Given the description of an element on the screen output the (x, y) to click on. 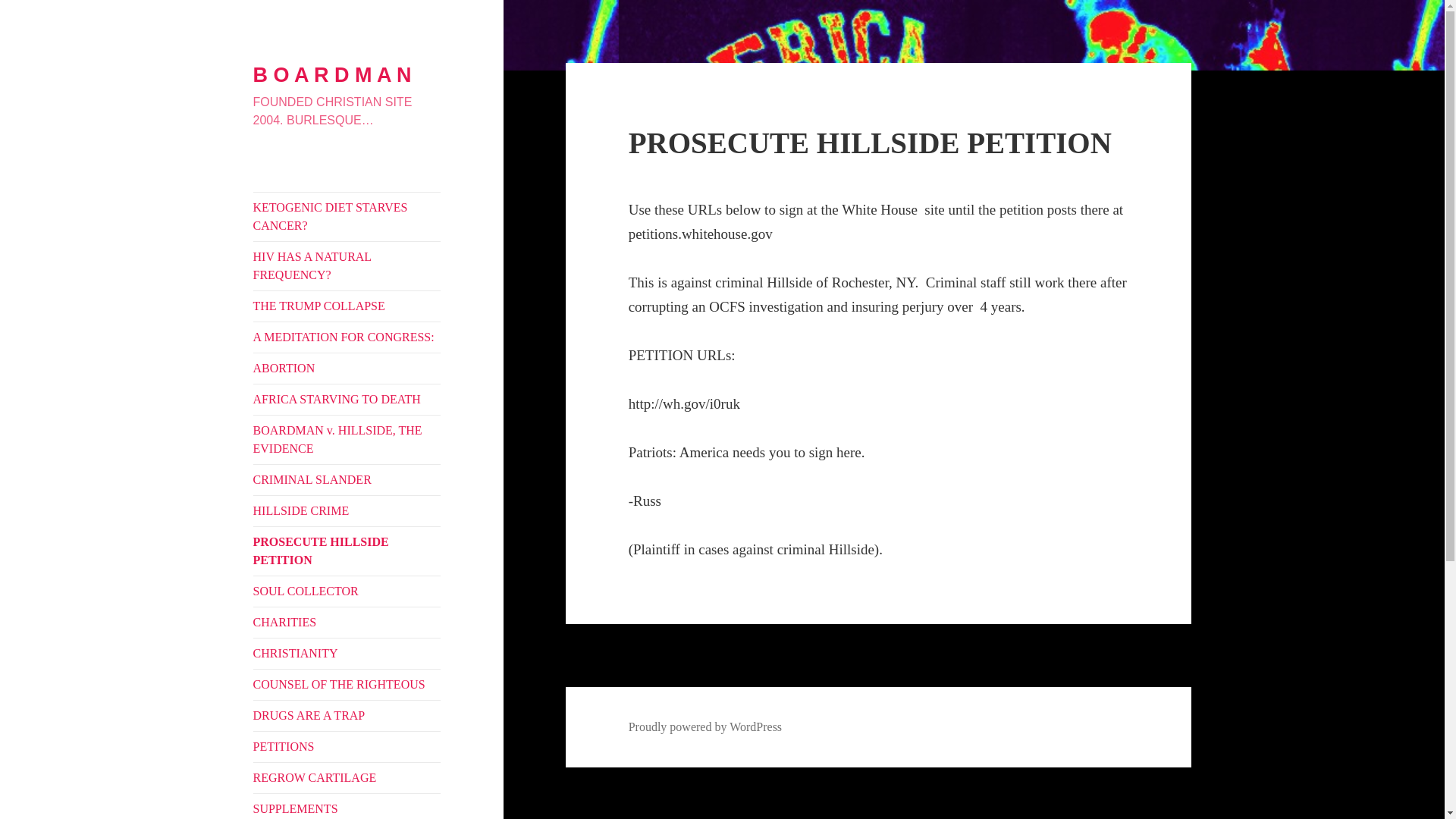
BOARDMAN v. HILLSIDE, THE EVIDENCE (347, 439)
SOUL COLLECTOR (347, 591)
CHARITIES (347, 622)
THE TRUMP COLLAPSE (347, 306)
PROSECUTE HILLSIDE PETITION (347, 551)
Proudly powered by WordPress (704, 726)
PETITIONS (347, 747)
CHRISTIANITY (347, 653)
HIV HAS A NATURAL FREQUENCY? (347, 265)
ABORTION (347, 368)
